Given the description of an element on the screen output the (x, y) to click on. 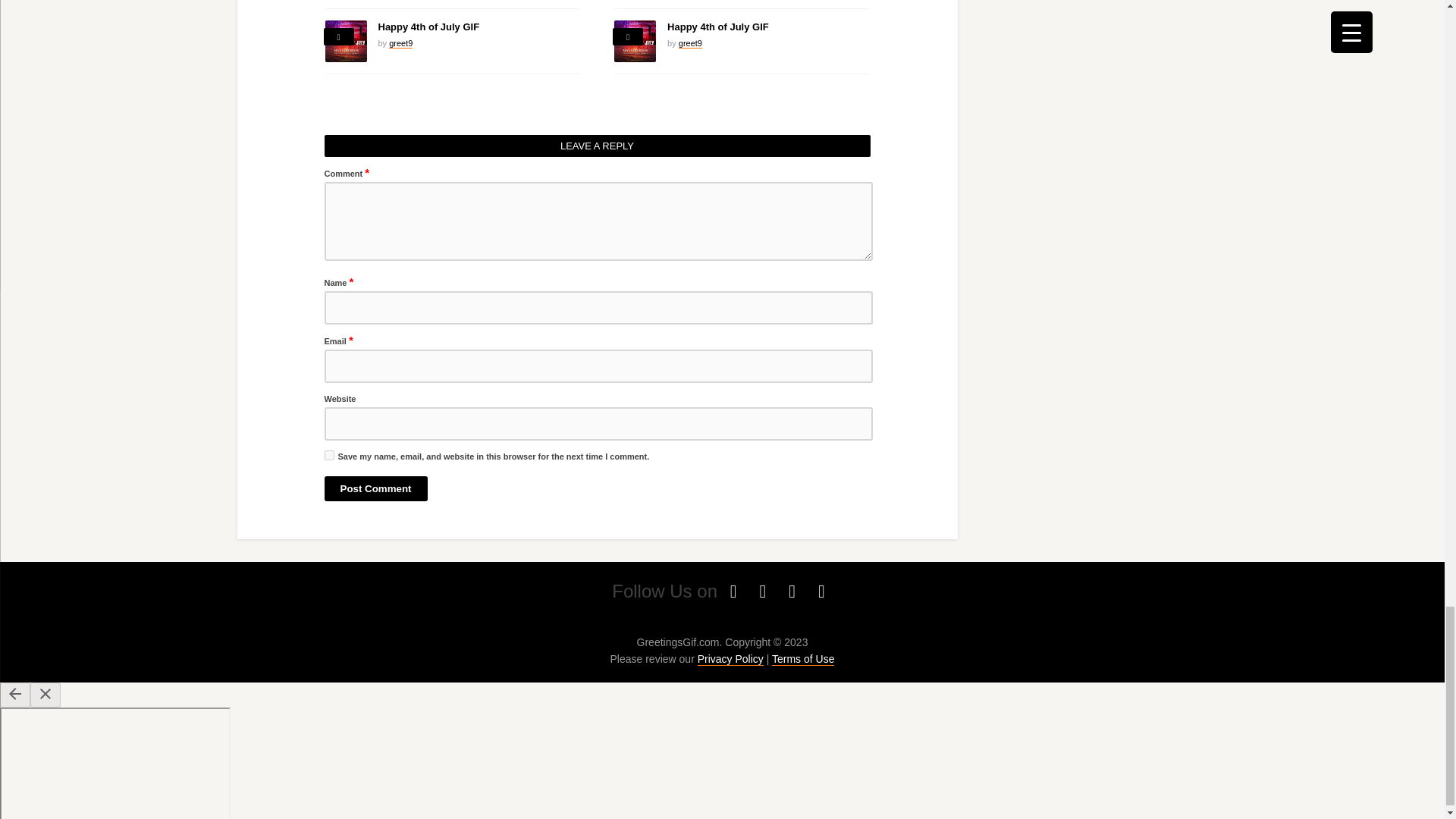
yes (329, 455)
Post Comment (376, 488)
